Given the description of an element on the screen output the (x, y) to click on. 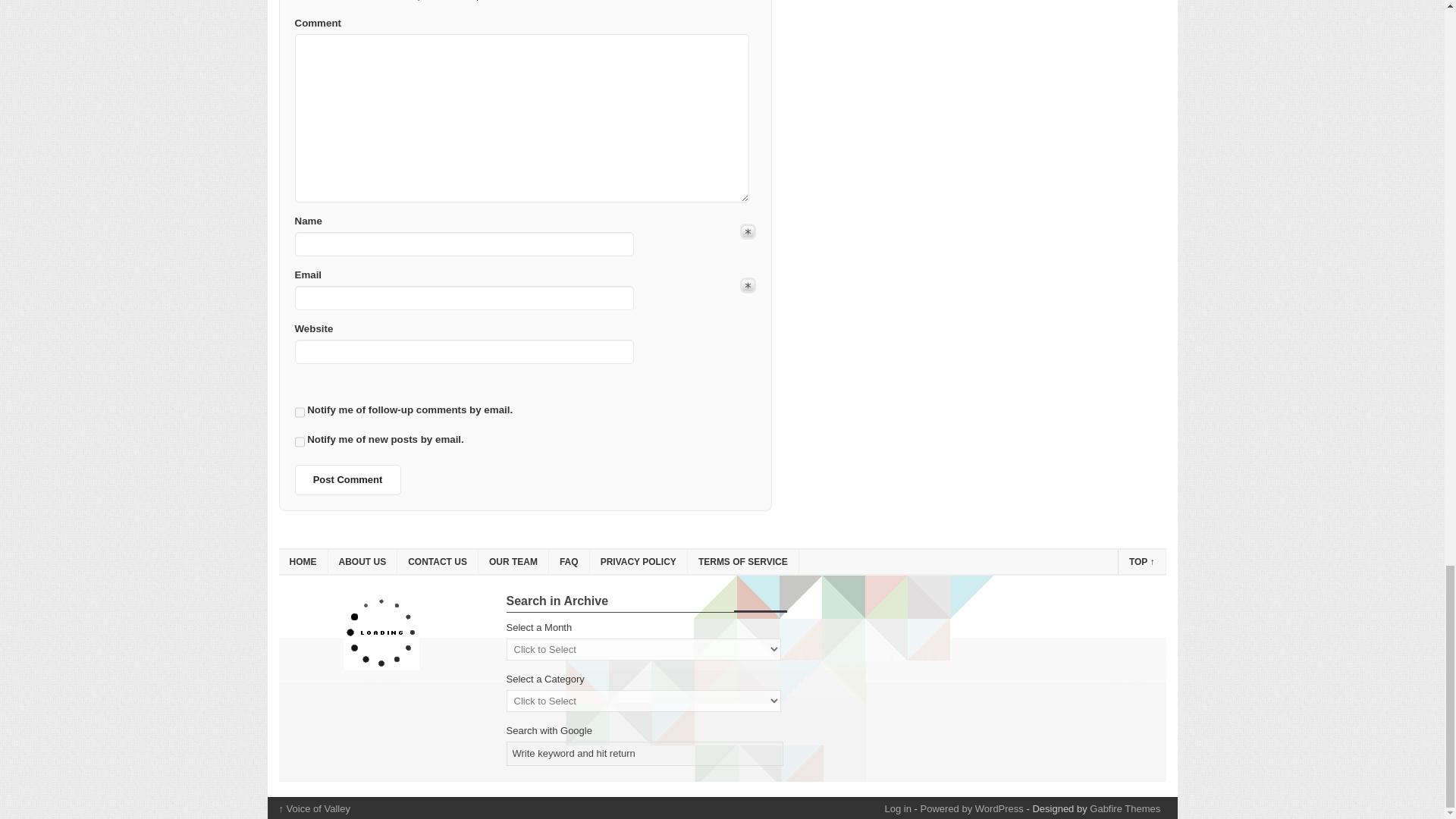
Post Comment (347, 480)
subscribe (299, 412)
Write keyword and hit return (645, 753)
subscribe (299, 441)
